Given the description of an element on the screen output the (x, y) to click on. 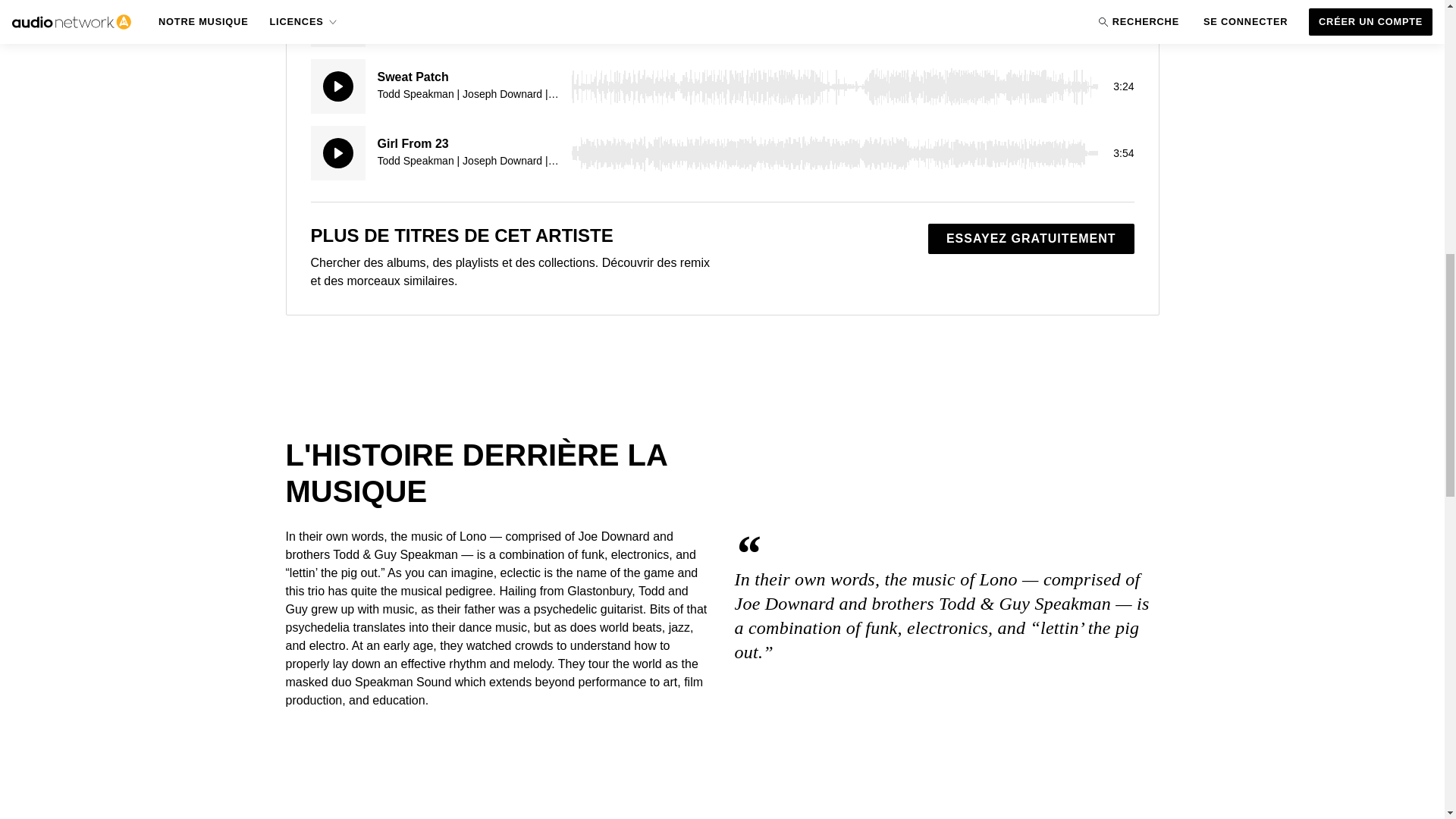
120 (834, 23)
117 (834, 153)
ESSAYEZ GRATUITEMENT (1031, 238)
102 (834, 85)
